Given the description of an element on the screen output the (x, y) to click on. 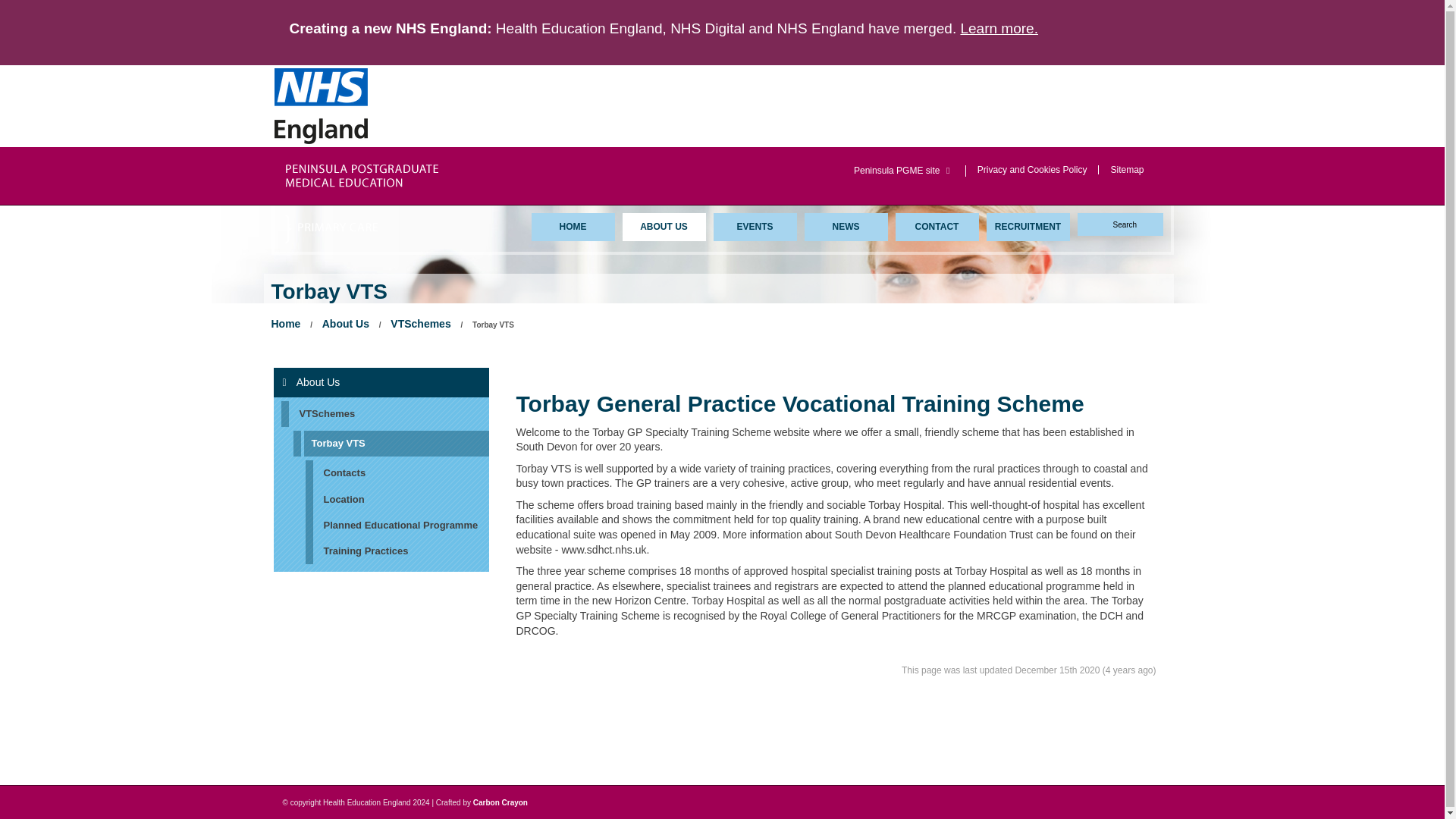
Location (395, 499)
Home (572, 226)
HOME (572, 226)
ABOUT US (662, 226)
CONTACT (936, 226)
NEWS (844, 226)
Privacy and Cookies Policy (1031, 168)
Planned Educational Programme (395, 525)
VTSchemes (419, 322)
Torbay VTS (389, 443)
RECRUITMENT (1026, 226)
Learn more. (997, 28)
Contacts (395, 473)
Go (10, 6)
About Us (380, 381)
